Given the description of an element on the screen output the (x, y) to click on. 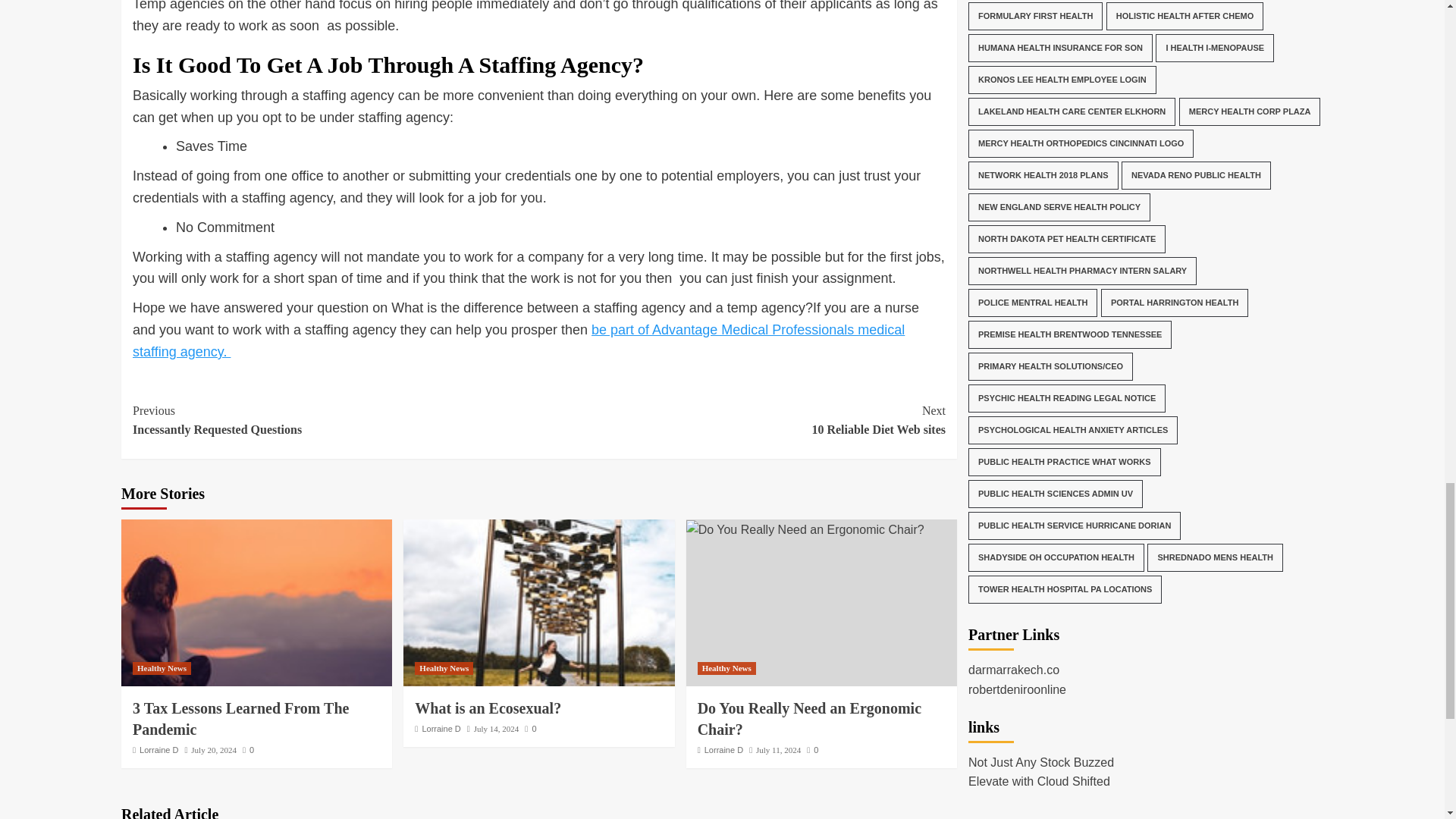
Lorraine D (741, 420)
Lorraine D (441, 728)
What is an Ecosexual? (158, 749)
Healthy News (538, 602)
Healthy News (161, 667)
Do You Really Need an Ergonomic Chair? (443, 667)
3 Tax Lessons Learned From The Pandemic (804, 529)
3 Tax Lessons Learned From The Pandemic (240, 718)
What is an Ecosexual? (255, 602)
